Given the description of an element on the screen output the (x, y) to click on. 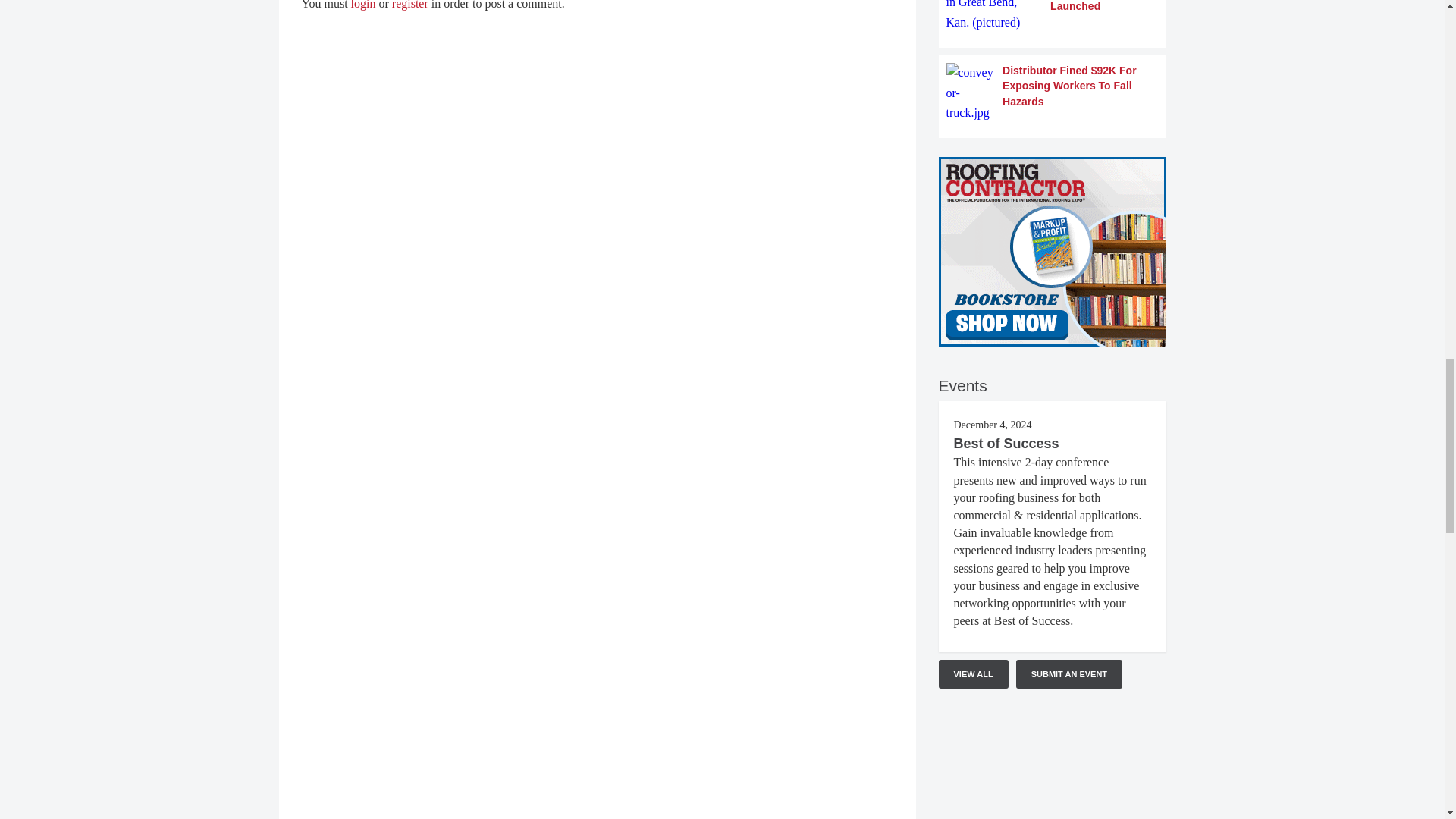
Best of Success (1006, 443)
Interaction questions (1052, 769)
